Given the description of an element on the screen output the (x, y) to click on. 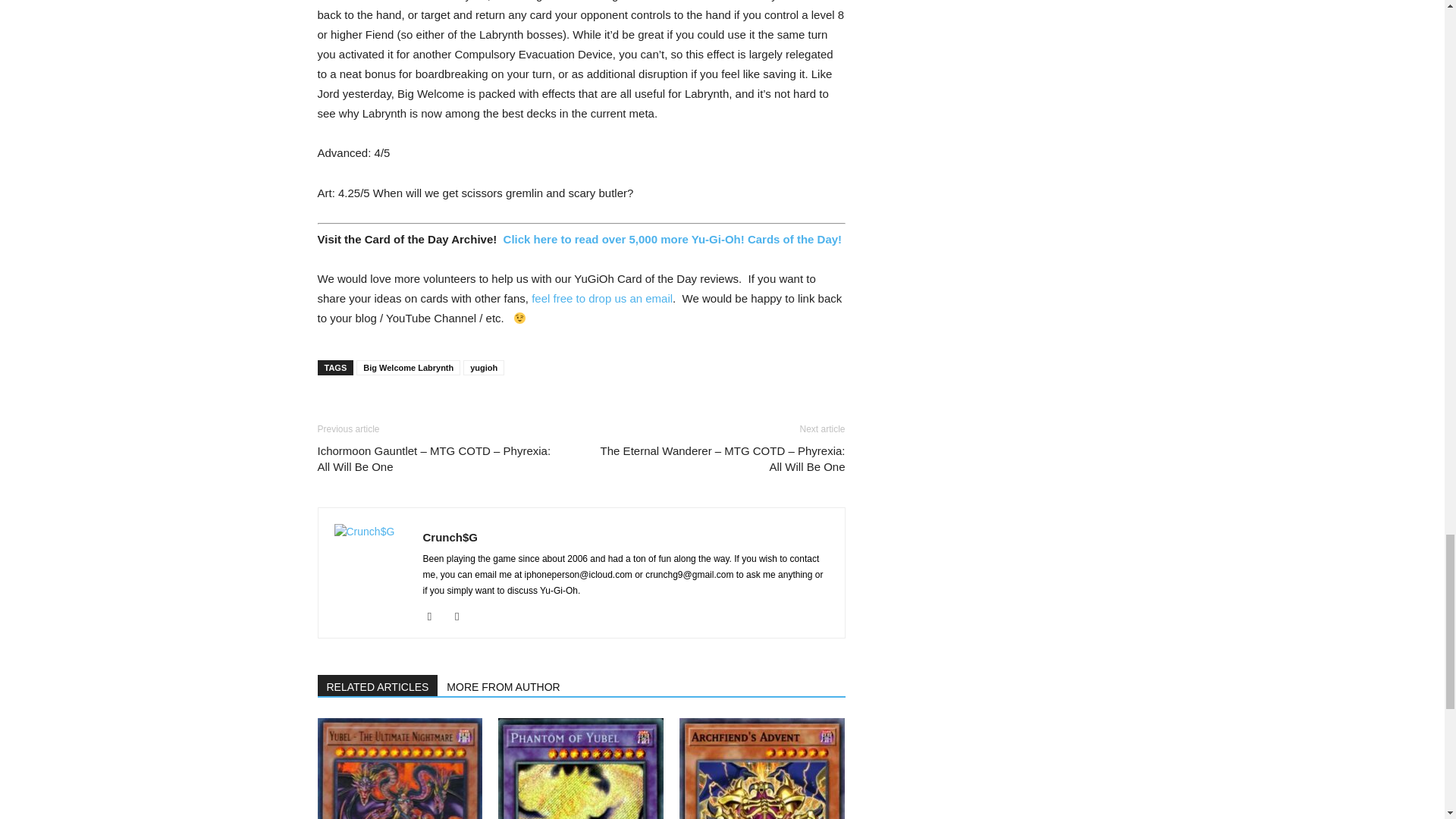
Instagram (435, 616)
Twitter (462, 616)
bottomFacebookLike (430, 408)
